Given the description of an element on the screen output the (x, y) to click on. 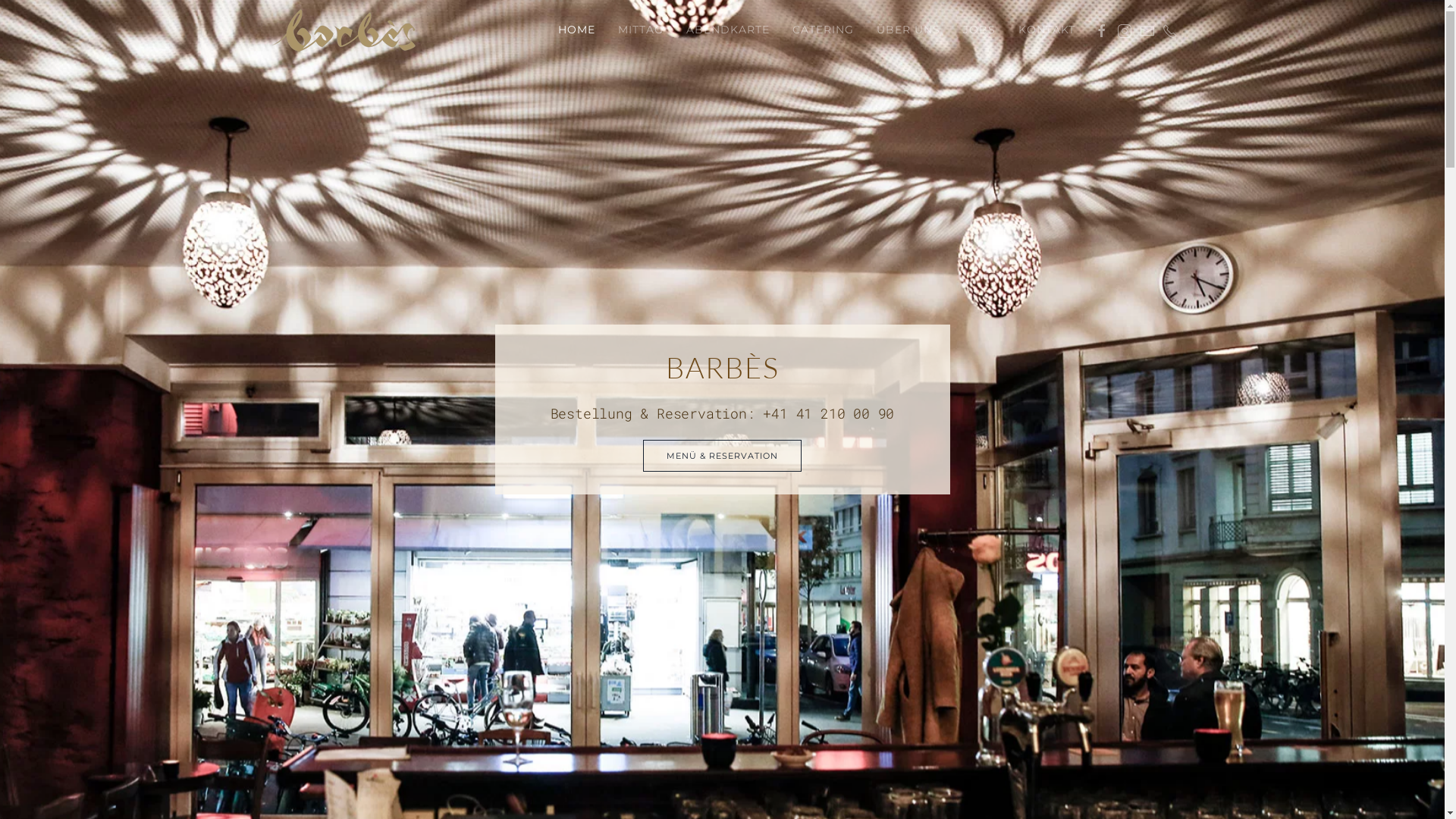
KONTAKT Element type: text (1046, 30)
HOME Element type: text (575, 30)
JOBS Element type: text (978, 30)
CATERING Element type: text (822, 30)
ABENDKARTE Element type: text (727, 30)
MITTAG Element type: text (640, 30)
